Given the description of an element on the screen output the (x, y) to click on. 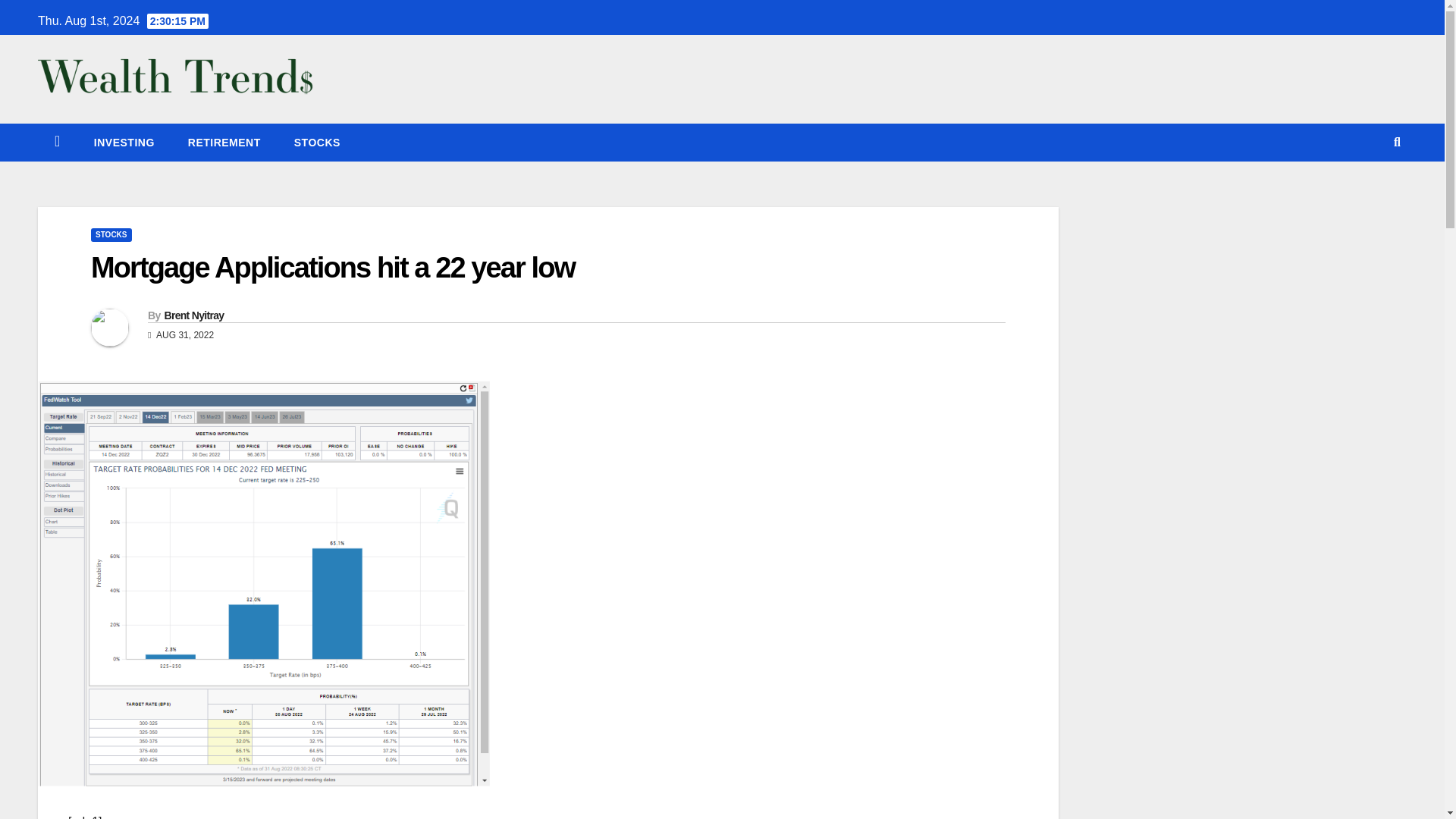
STOCKS (317, 142)
Permalink to: Mortgage Applications hit a 22 year low (332, 267)
Investing (124, 142)
INVESTING (124, 142)
STOCKS (111, 234)
Mortgage Applications hit a 22 year low (332, 267)
Retirement (224, 142)
Stocks (317, 142)
Brent Nyitray (193, 315)
RETIREMENT (224, 142)
